Given the description of an element on the screen output the (x, y) to click on. 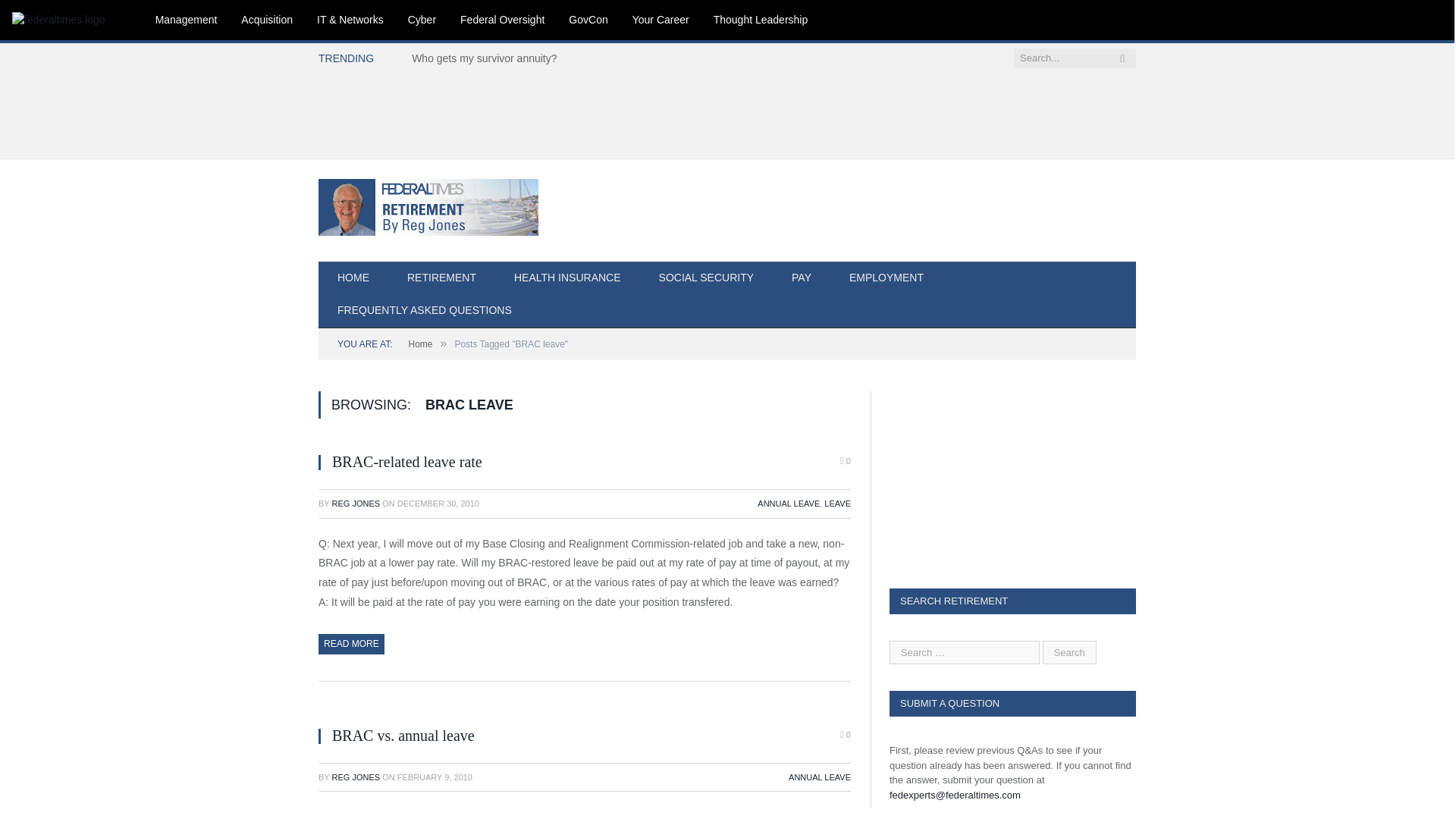
0 (845, 460)
Home (419, 344)
GovCon (588, 19)
HEALTH INSURANCE (567, 278)
2010-12-30 (438, 502)
READ MORE (351, 643)
Search (1069, 652)
Thought Leadership (761, 19)
Acquisition (266, 19)
RETIREMENT (441, 278)
LEAVE (837, 502)
Federal Oversight (502, 19)
SOCIAL SECURITY (706, 278)
FREQUENTLY ASKED QUESTIONS (424, 311)
BRAC-related leave rate (406, 461)
